Given the description of an element on the screen output the (x, y) to click on. 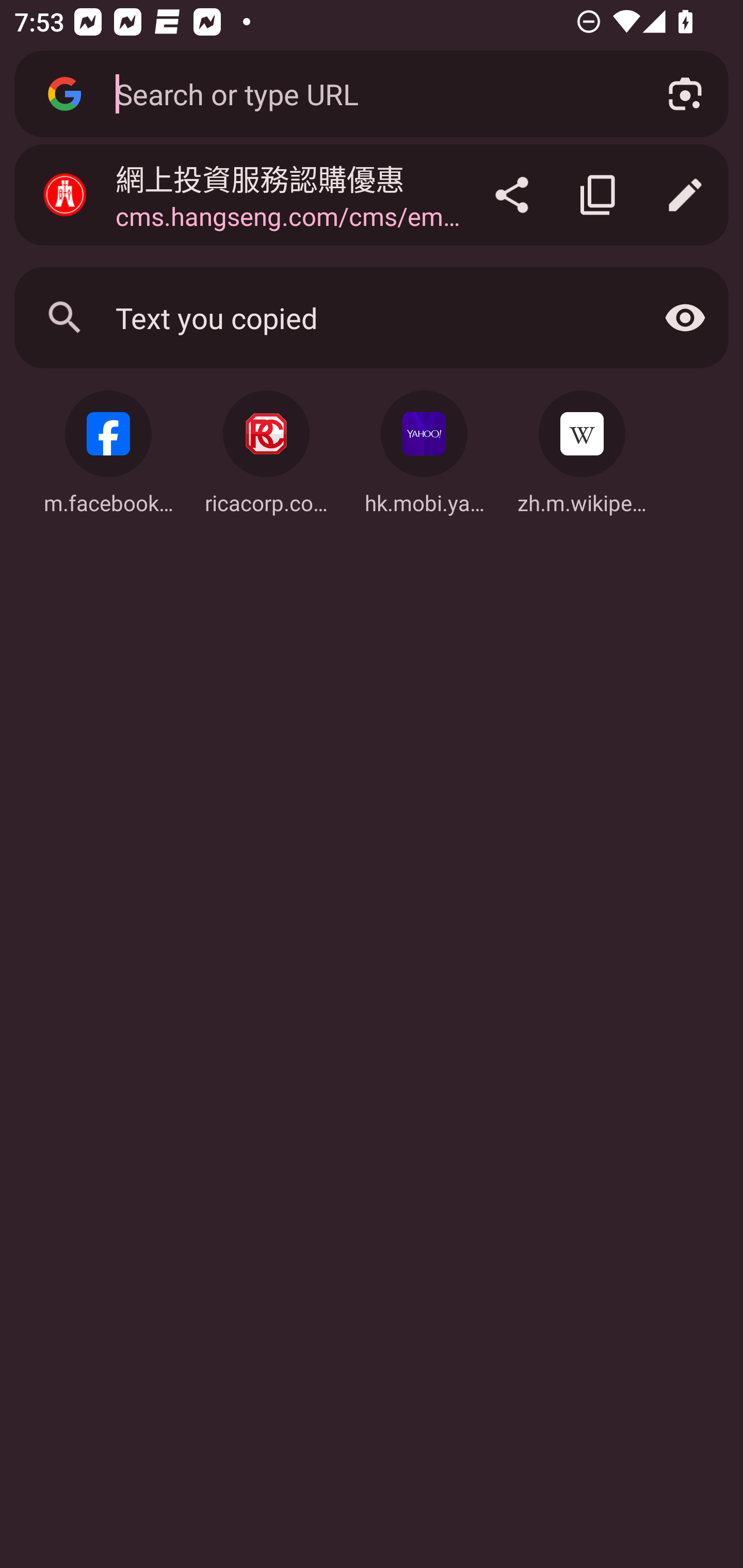
Search with your camera using Google Lens (684, 93)
Search or type URL (367, 92)
Share… (511, 195)
Copy link (598, 195)
Edit (684, 195)
Text you copied Show clipboard contents (371, 317)
Show clipboard contents (684, 317)
